Given the description of an element on the screen output the (x, y) to click on. 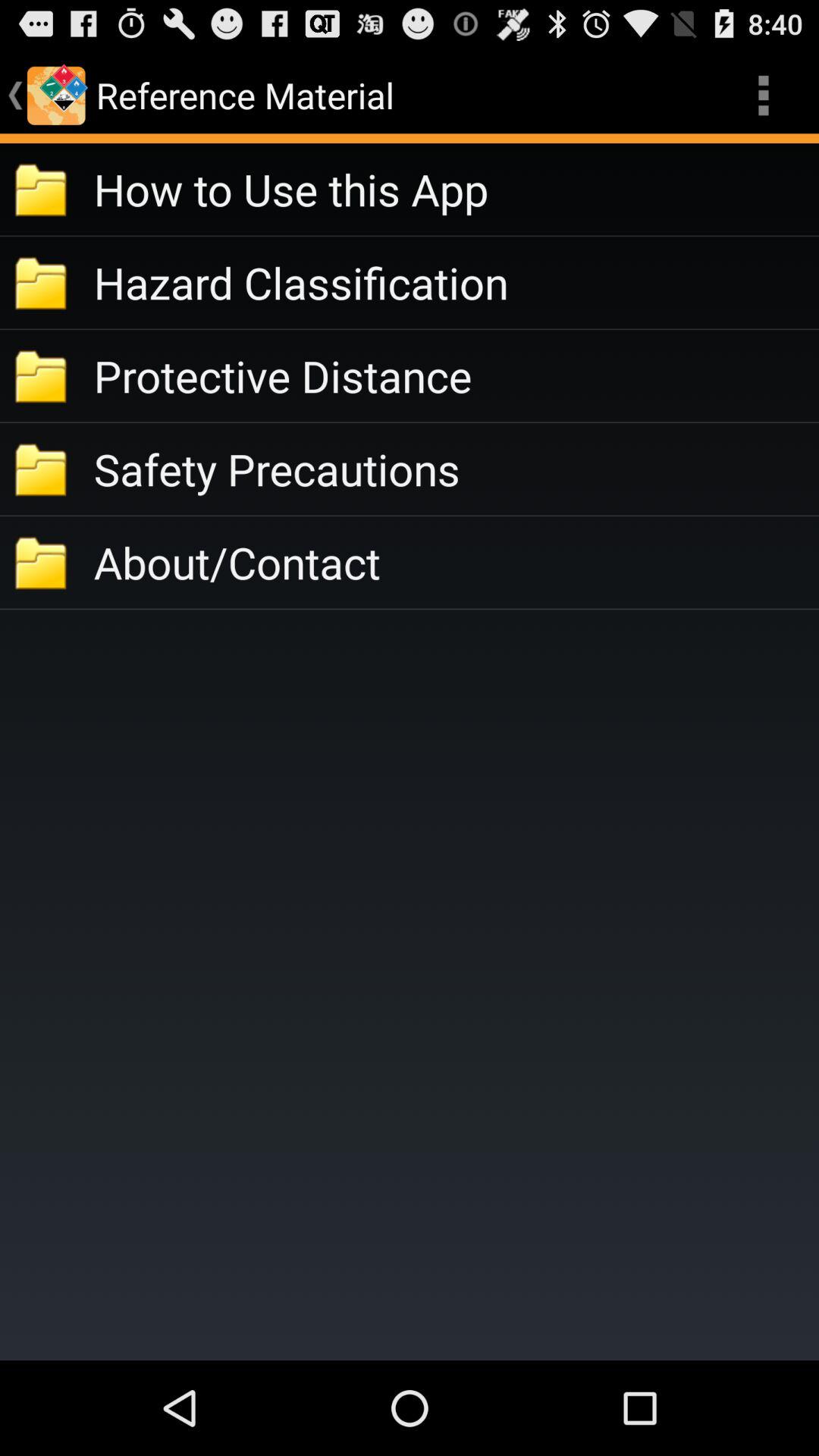
open the item at the top right corner (763, 95)
